Given the description of an element on the screen output the (x, y) to click on. 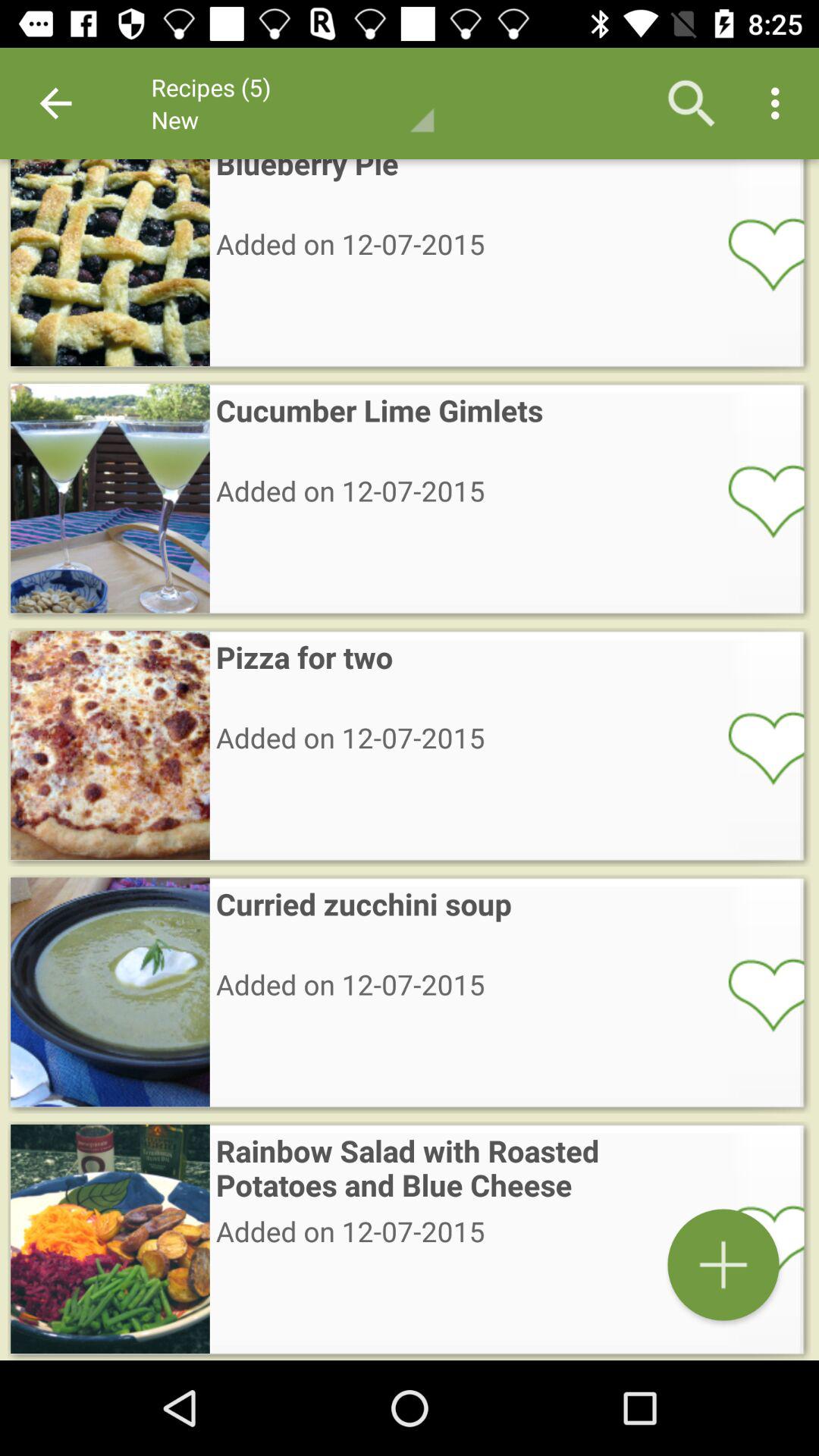
click to add option (756, 1240)
